Given the description of an element on the screen output the (x, y) to click on. 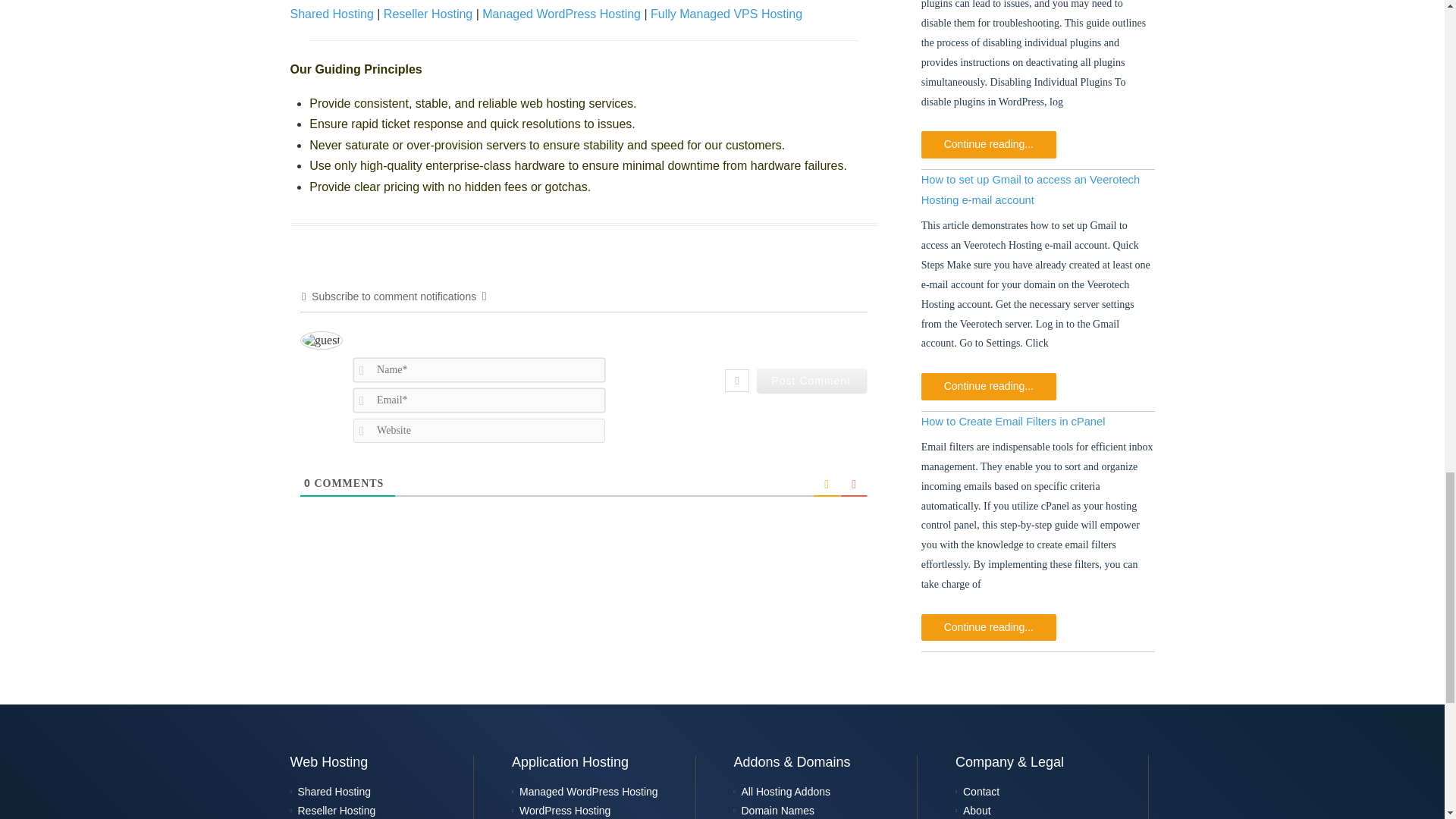
Fully Managed VPS Hosting (726, 13)
Shared Hosting (330, 13)
Post Comment (811, 380)
Reseller Hosting (427, 13)
Managed WordPress Hosting (560, 13)
